Given the description of an element on the screen output the (x, y) to click on. 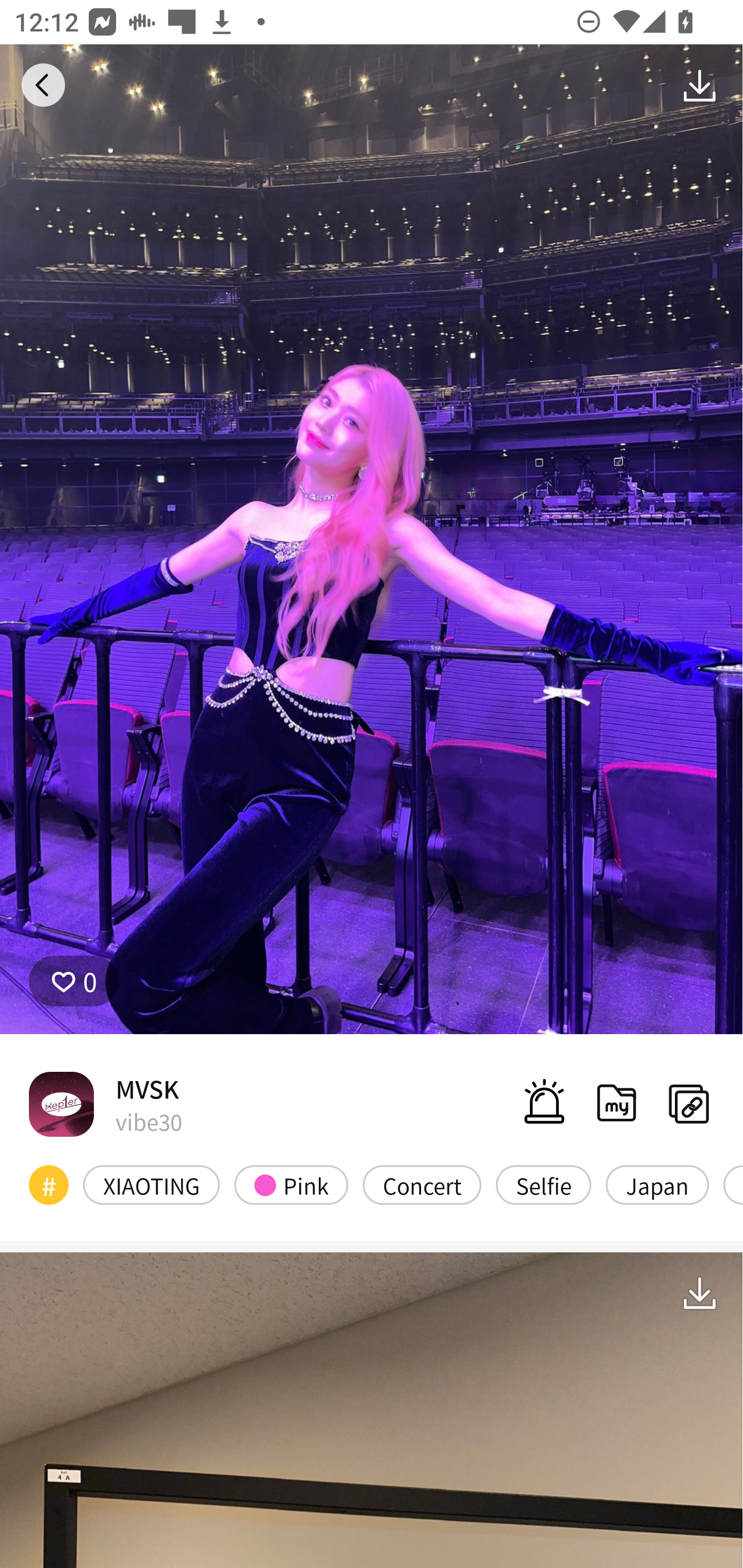
0 (73, 980)
MVSK vibe30 (105, 1103)
XIAOTING (151, 1184)
Pink (291, 1184)
Concert (421, 1184)
Selfie (543, 1184)
Japan (656, 1184)
